Given the description of an element on the screen output the (x, y) to click on. 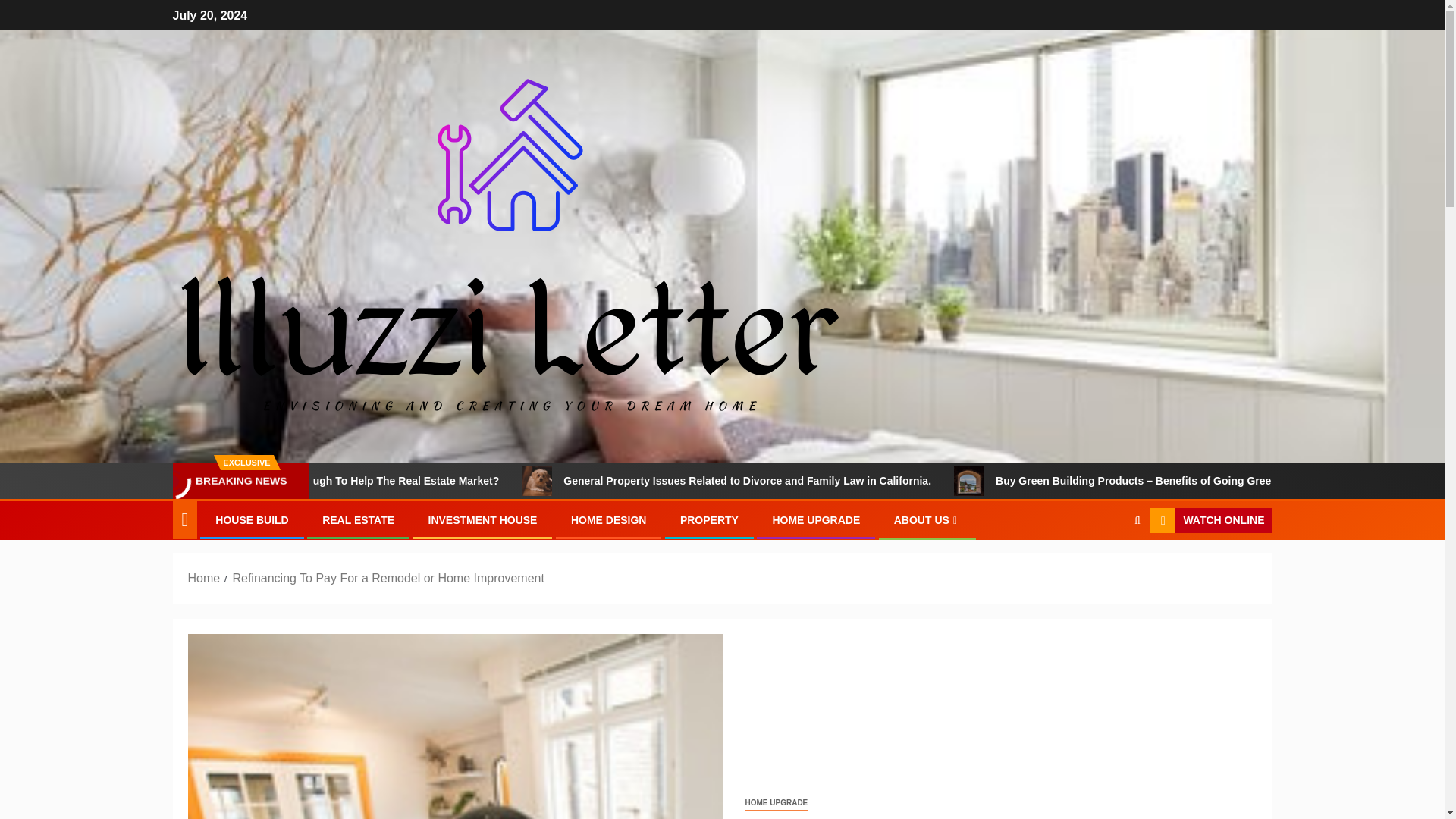
HOUSE BUILD (251, 520)
Refinancing To Pay For a Remodel or Home Improvement (454, 726)
PROPERTY (708, 520)
WATCH ONLINE (1210, 520)
HOME UPGRADE (815, 520)
Refinancing To Pay For a Remodel or Home Improvement (387, 577)
INVESTMENT HOUSE (482, 520)
REAL ESTATE (357, 520)
Home (204, 577)
HOME UPGRADE (776, 803)
HOME DESIGN (608, 520)
ABOUT US (926, 520)
Search (1107, 566)
